Given the description of an element on the screen output the (x, y) to click on. 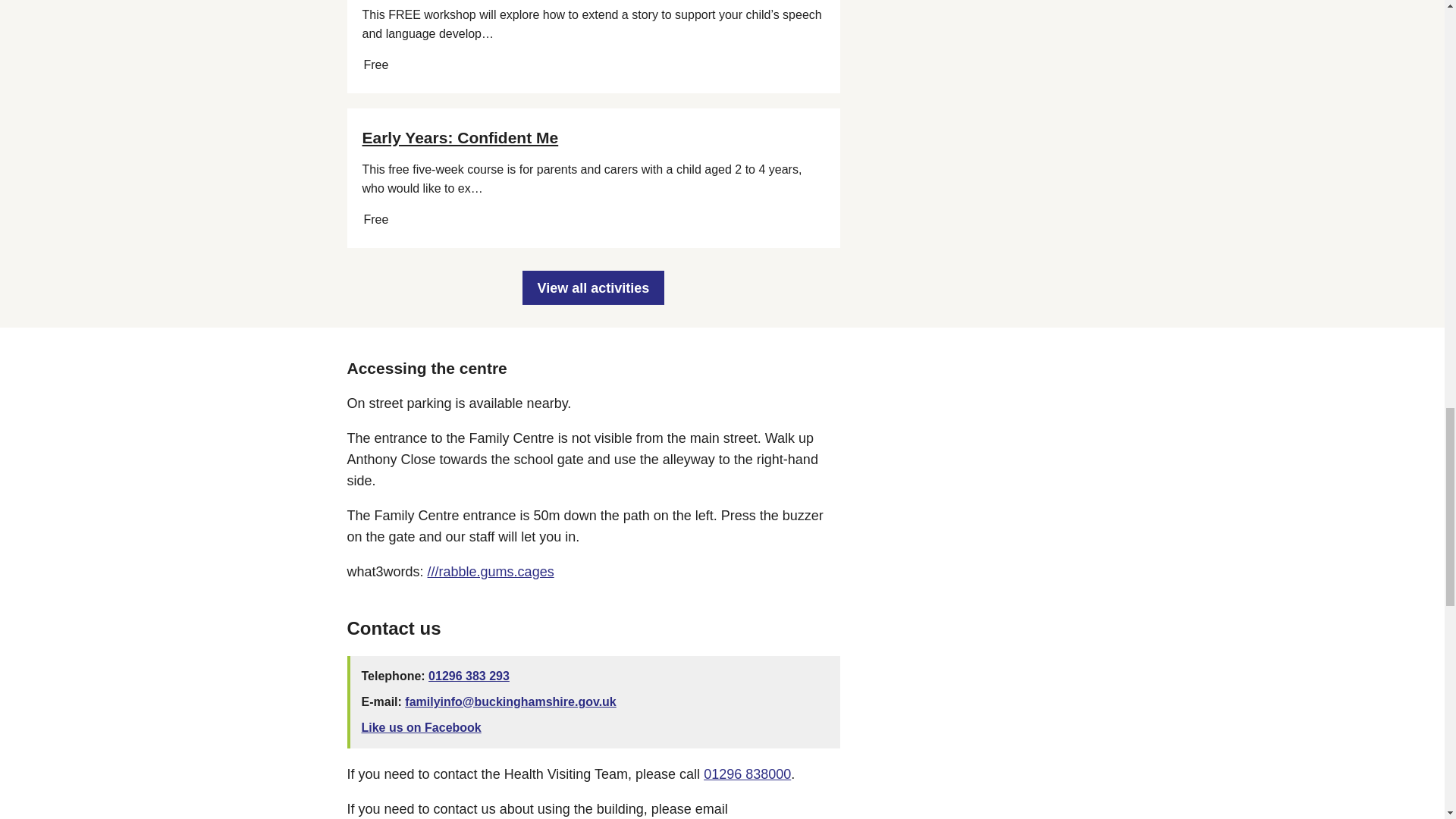
01296 838000 (746, 774)
Like us on Facebook (420, 727)
View all activities (593, 287)
01296 383 293 (468, 675)
Early Years: Confident Me (460, 137)
